Given the description of an element on the screen output the (x, y) to click on. 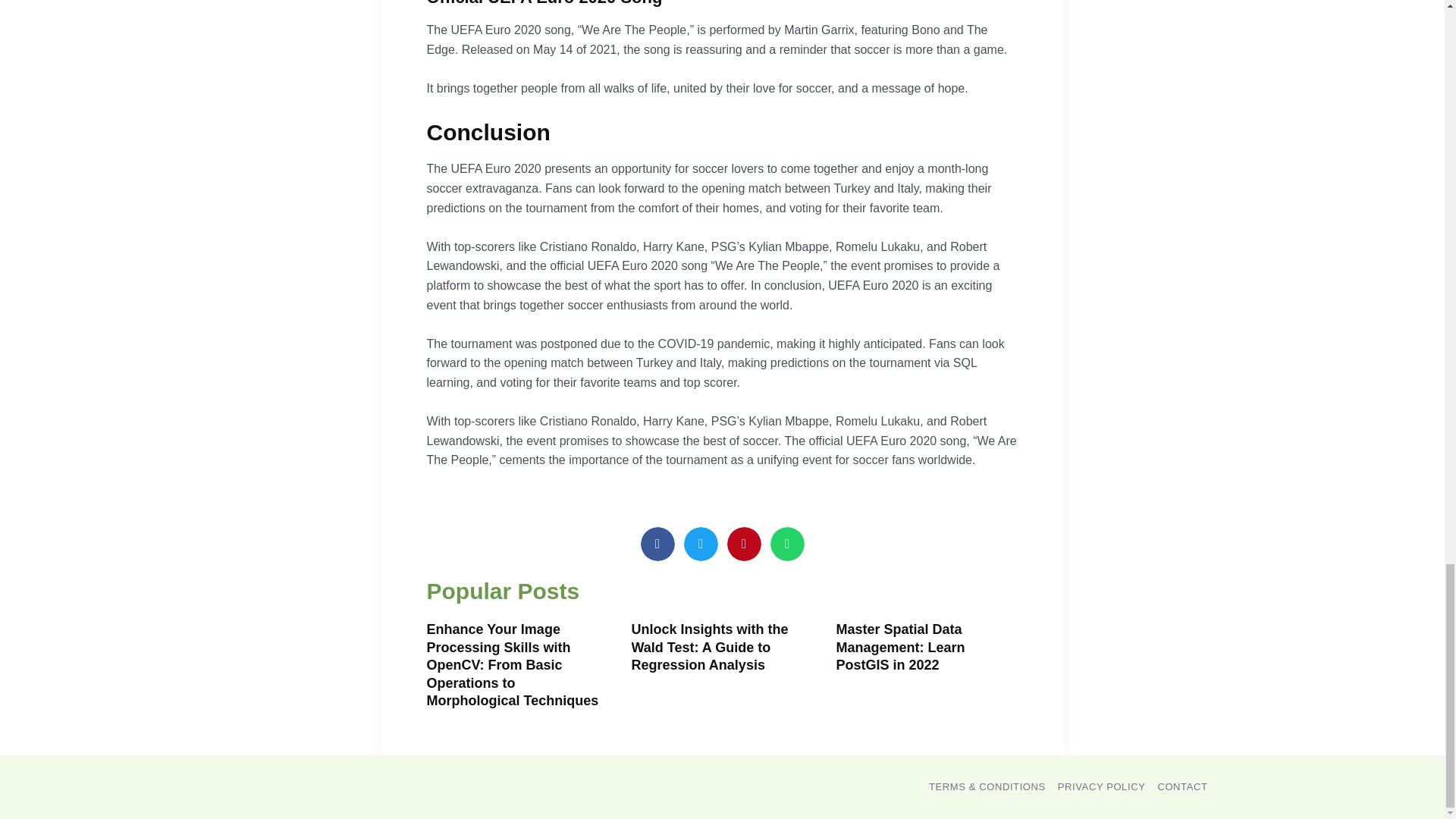
Master Spatial Data Management: Learn PostGIS in 2022 (899, 646)
CONTACT (1182, 786)
PRIVACY POLICY (1101, 786)
